Given the description of an element on the screen output the (x, y) to click on. 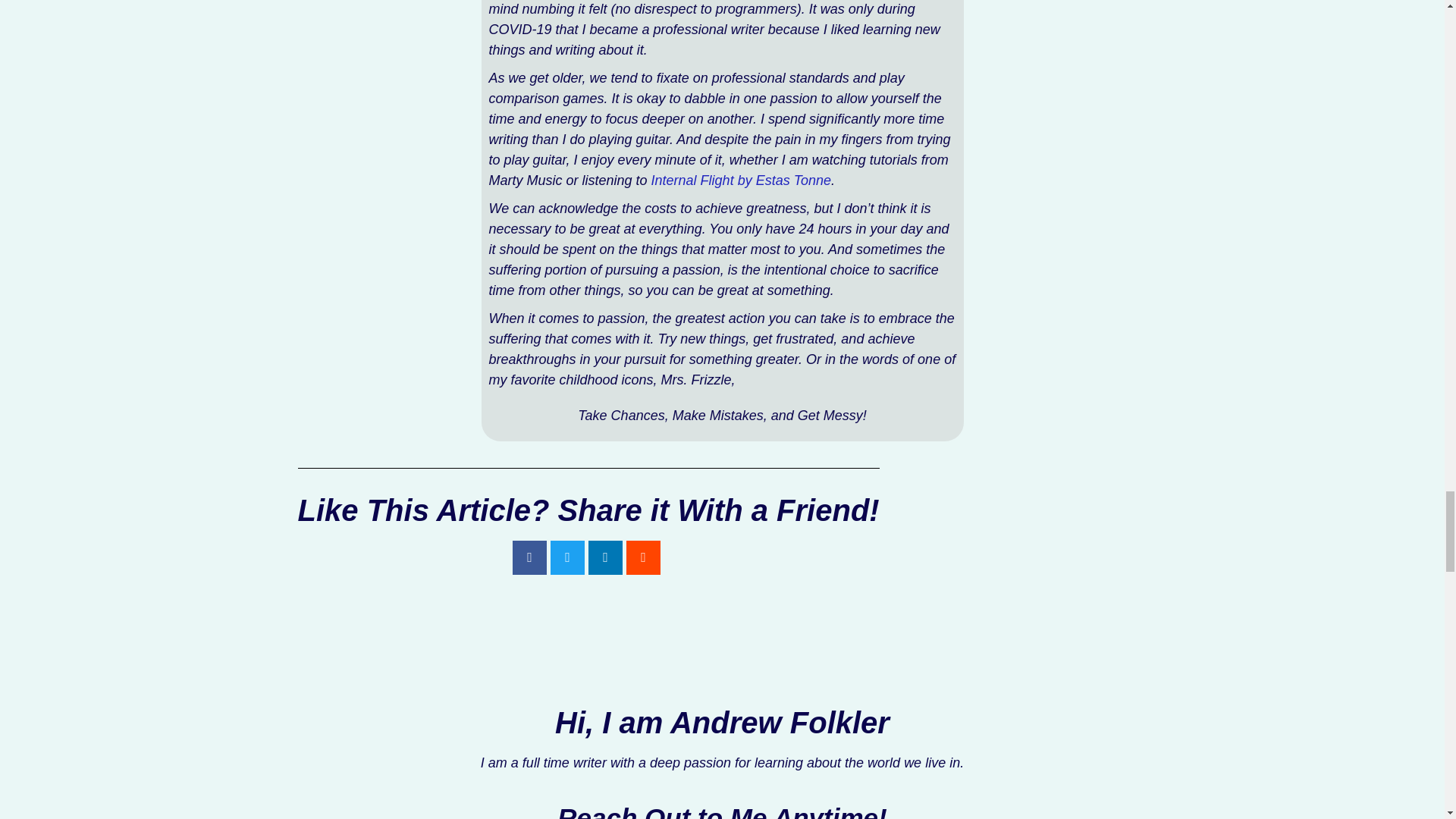
Internal Flight by Estas Tonne (740, 180)
